Given the description of an element on the screen output the (x, y) to click on. 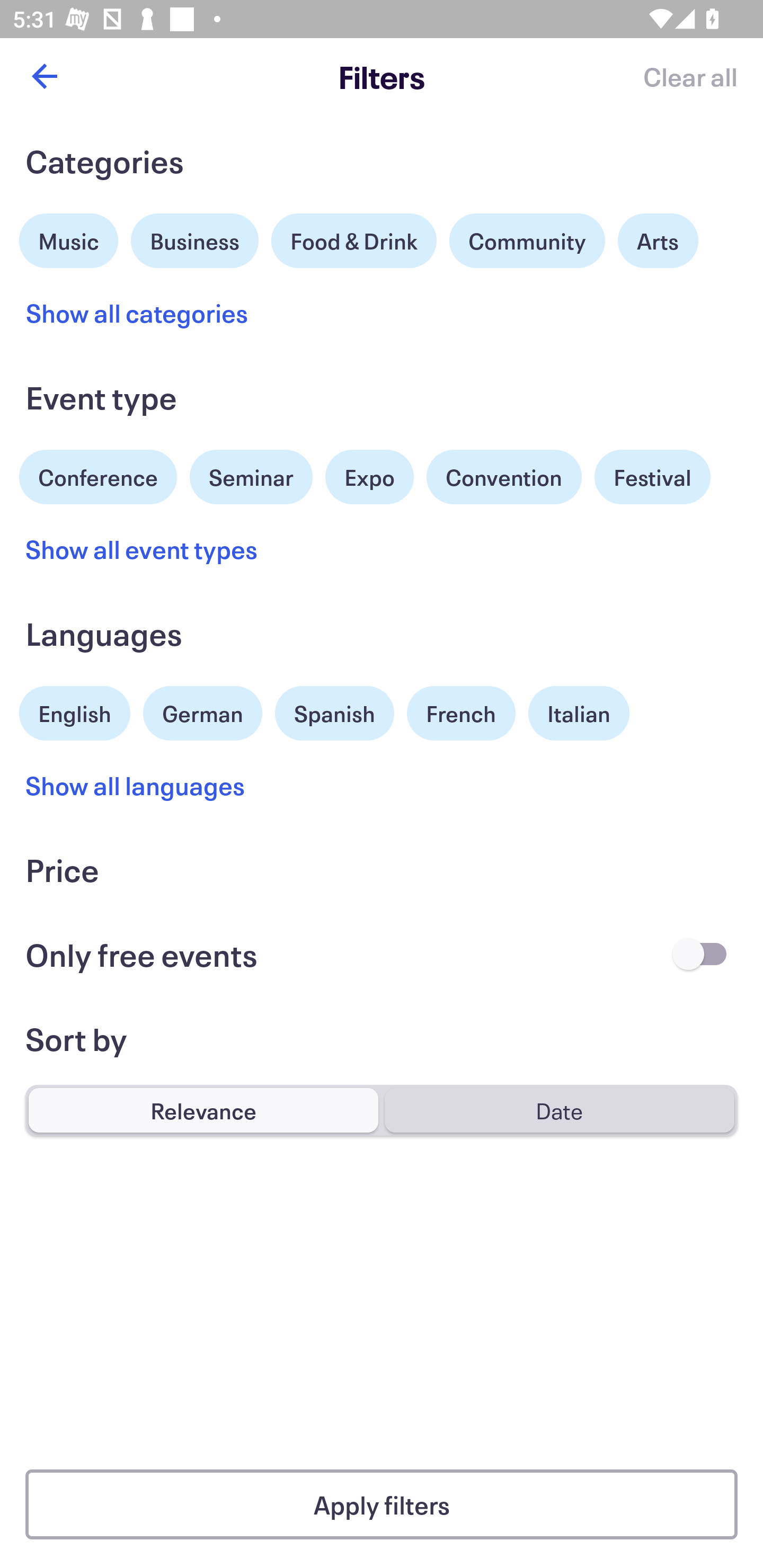
Back button (44, 75)
Clear all (690, 75)
Music (68, 238)
Business (194, 238)
Food & Drink (353, 240)
Community (527, 240)
Arts (658, 240)
Show all categories (136, 312)
Conference (98, 475)
Seminar (250, 477)
Expo (369, 477)
Convention (503, 477)
Festival (652, 477)
Show all event types (141, 548)
English (74, 710)
German (202, 710)
Spanish (334, 713)
French (460, 713)
Italian (578, 713)
Show all languages (135, 784)
Relevance (203, 1109)
Date (559, 1109)
Apply filters (381, 1504)
